Given the description of an element on the screen output the (x, y) to click on. 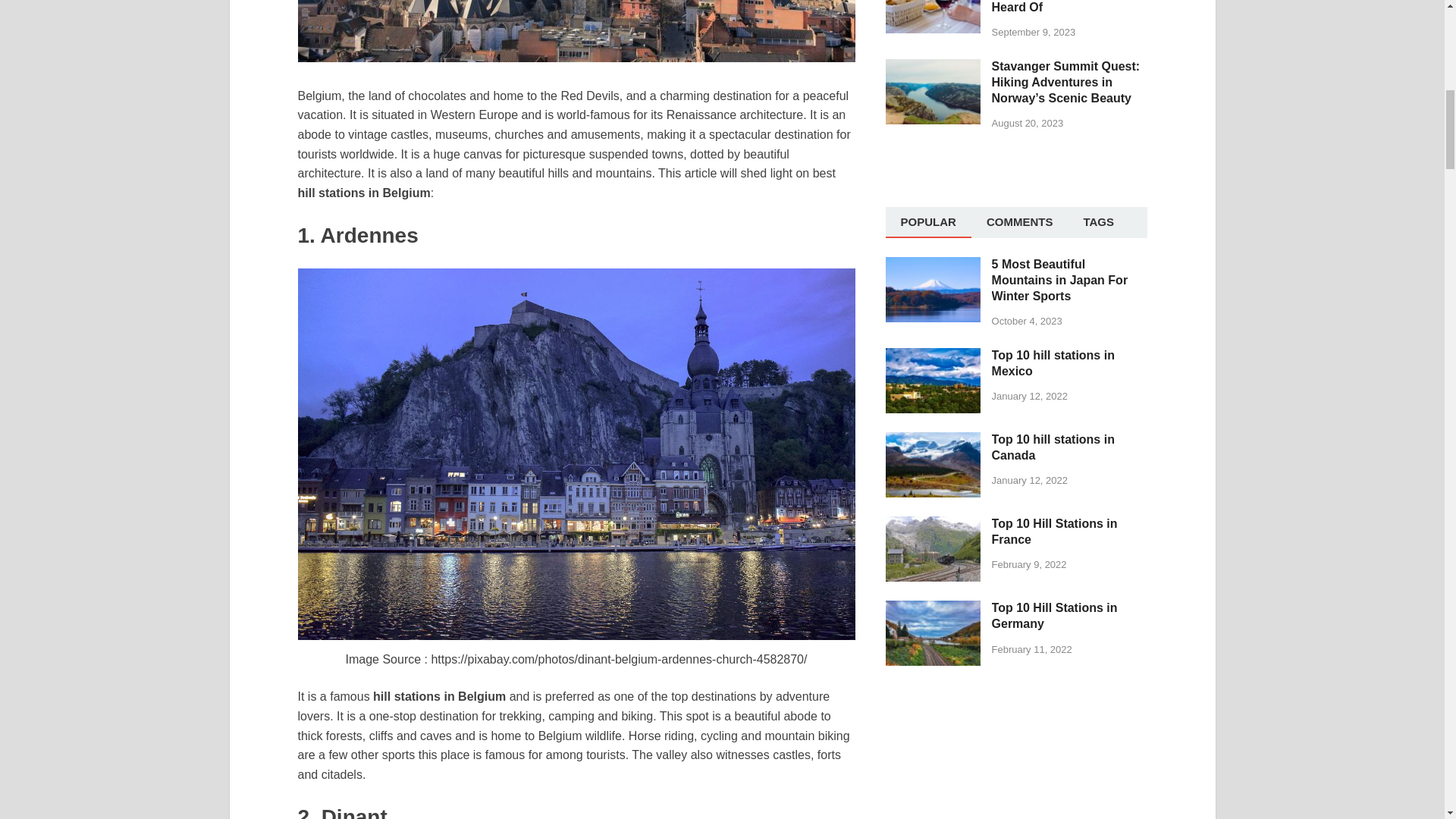
Top 10 Hill Stations in Germany (932, 608)
5 Most Beautiful Mountains in Japan For Winter Sports (932, 265)
Top 10 hill stations in Canada (932, 440)
Top 10 Hill Stations in France (932, 524)
Top 10 hill stations in Mexico (932, 356)
